Given the description of an element on the screen output the (x, y) to click on. 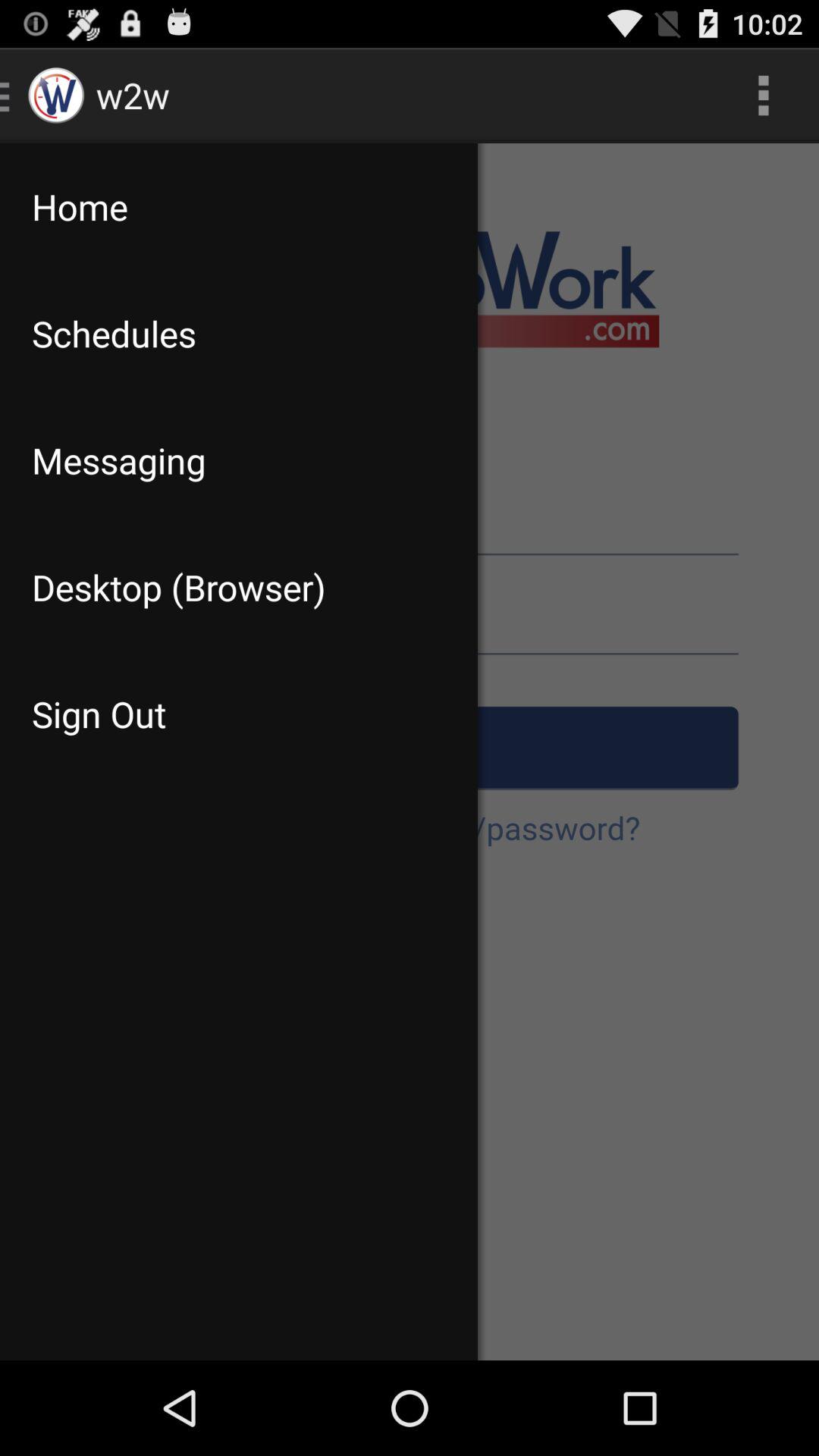
launch the icon above the messaging icon (238, 333)
